Given the description of an element on the screen output the (x, y) to click on. 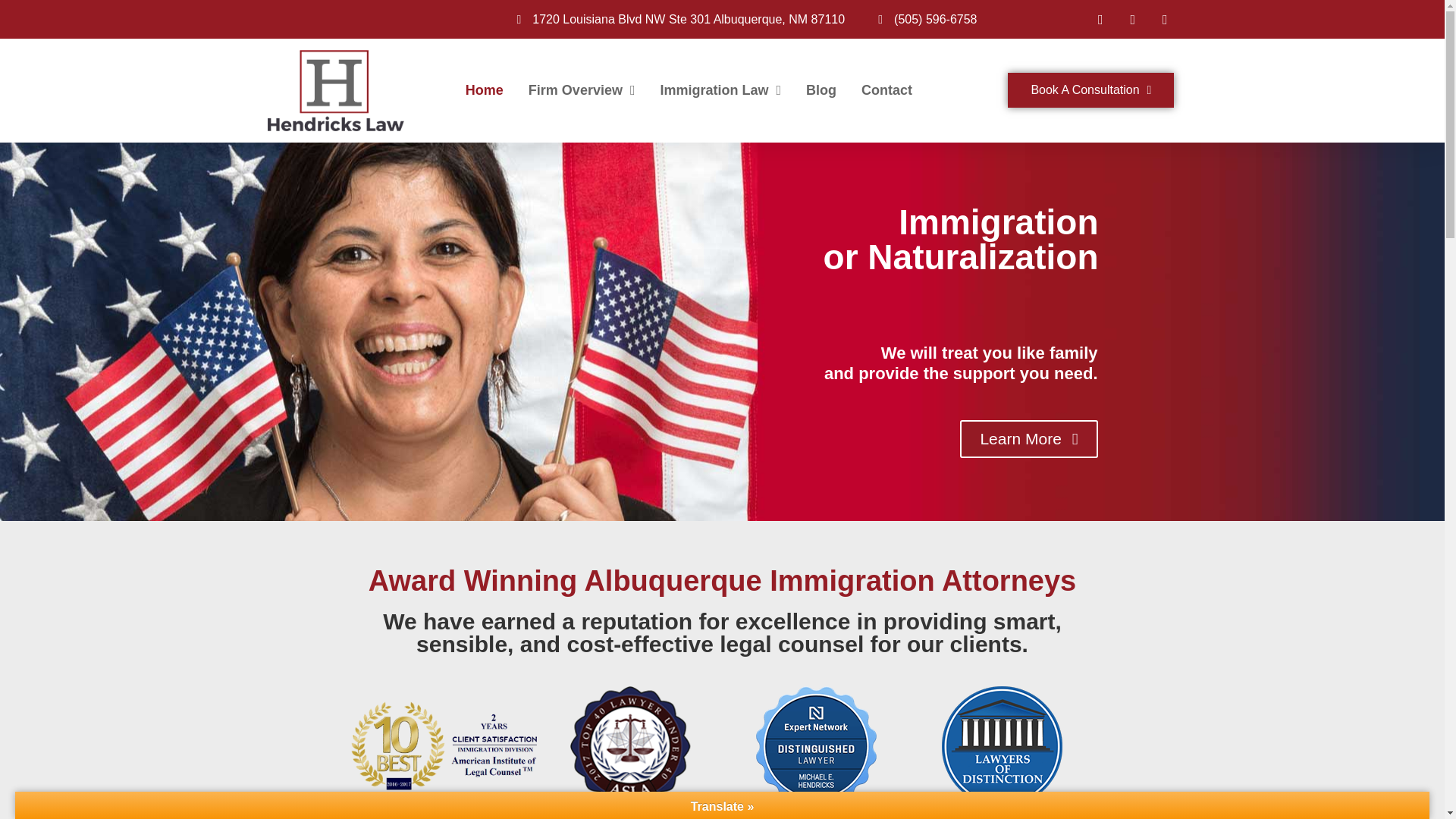
Immigration Law (719, 89)
Contact (886, 89)
Firm Overview (581, 89)
Home (484, 89)
